Given the description of an element on the screen output the (x, y) to click on. 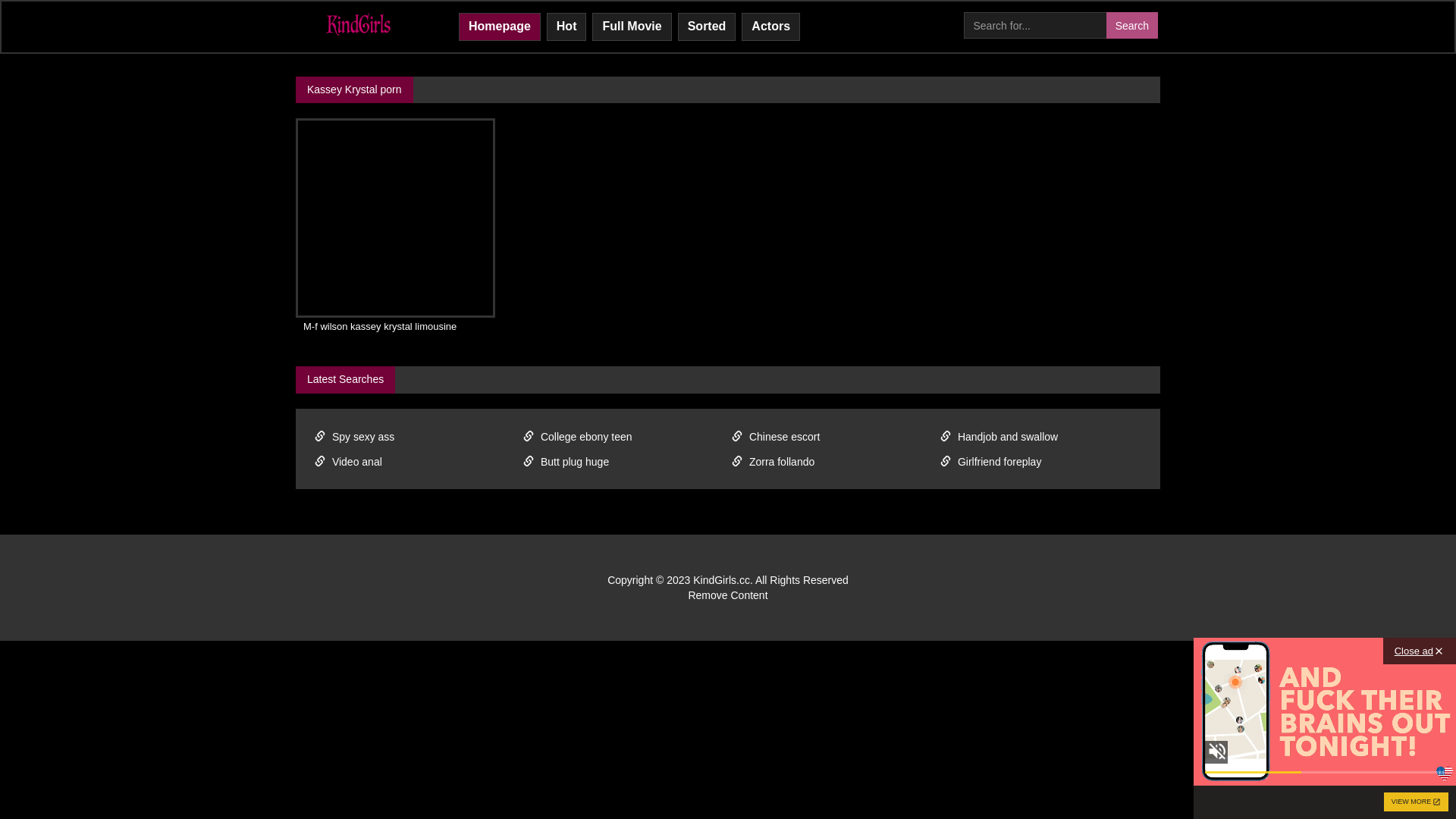
M-f wilson kassey krystal limousine Element type: text (395, 326)
Hot Element type: text (566, 26)
Remove Content Element type: text (727, 595)
College ebony teen Element type: text (623, 435)
Search Element type: text (1131, 25)
Handjob and swallow Element type: text (1040, 435)
Video anal Element type: text (414, 460)
Homepage Element type: text (499, 26)
Zorra follando Element type: text (832, 460)
Sorted Element type: text (706, 26)
Butt plug huge Element type: text (623, 460)
Actors Element type: text (770, 26)
Girlfriend foreplay Element type: text (1040, 460)
Chinese escort Element type: text (832, 435)
Full Movie Element type: text (631, 26)
Spy sexy ass Element type: text (414, 435)
